Given the description of an element on the screen output the (x, y) to click on. 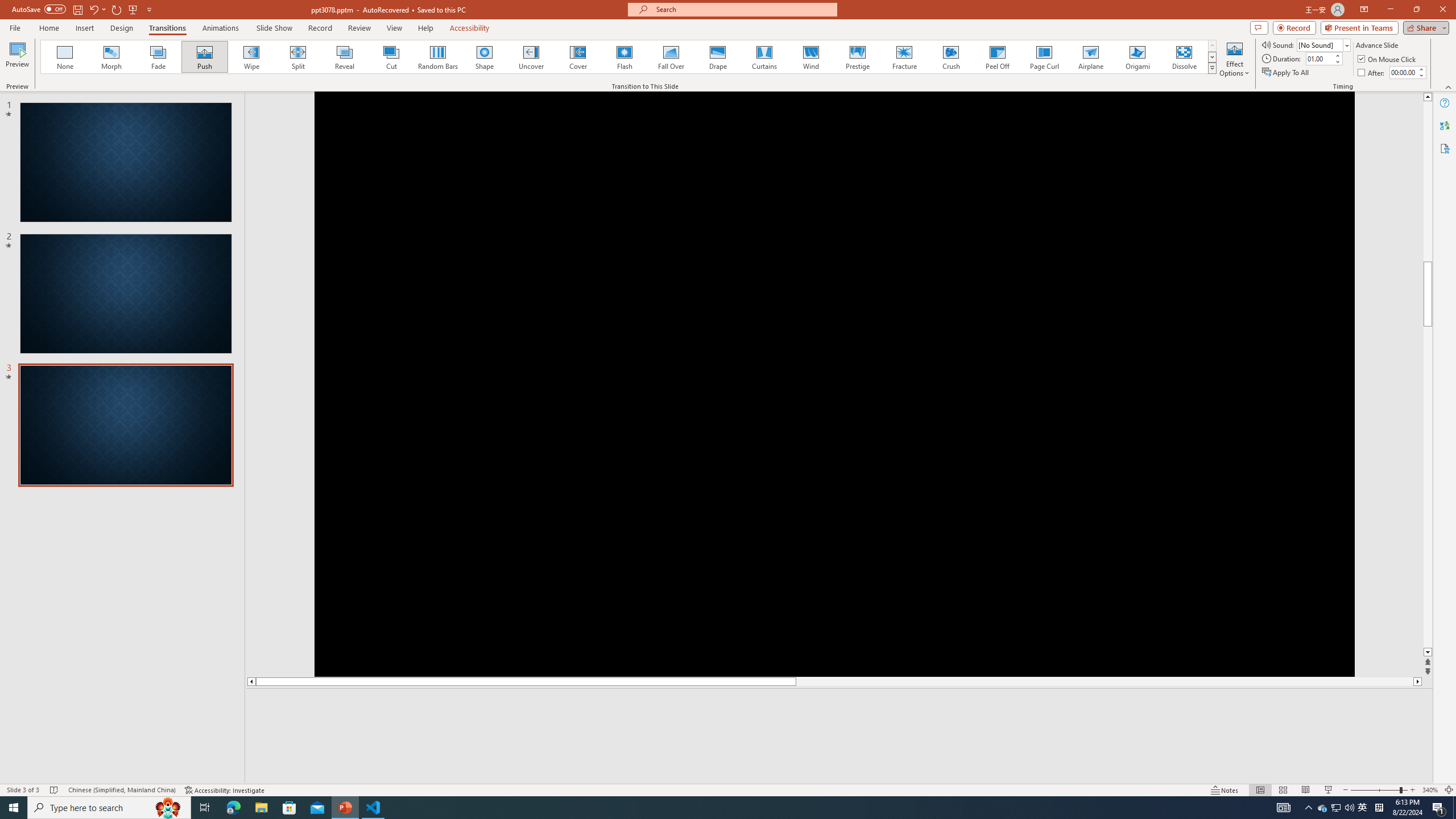
Curtains (764, 56)
Page Curl (1043, 56)
Fracture (903, 56)
Split (298, 56)
Drape (717, 56)
Morph (111, 56)
None (65, 56)
Microsoft search (742, 9)
